Given the description of an element on the screen output the (x, y) to click on. 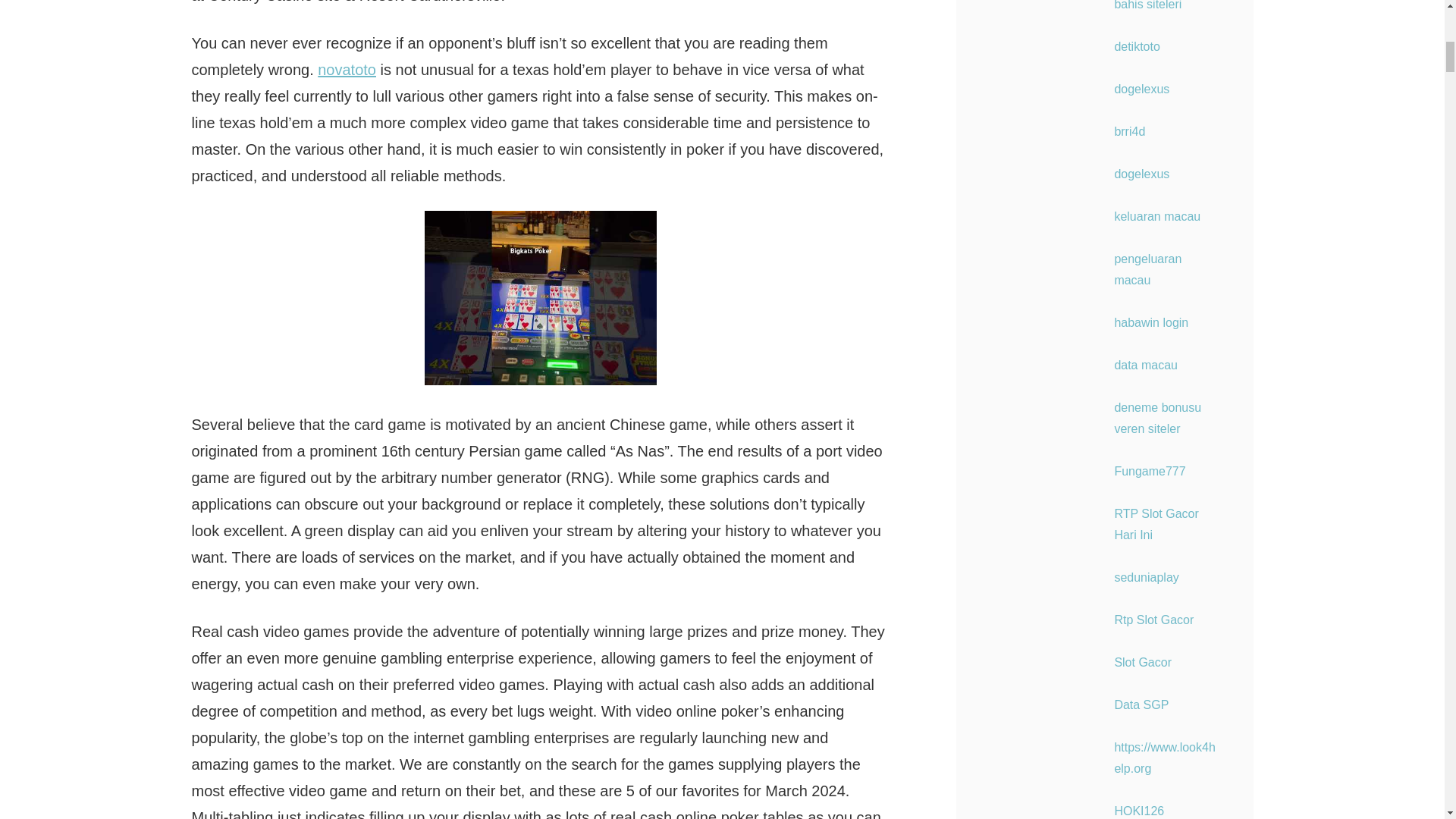
habawin login (1150, 322)
bahis siteleri (1146, 5)
RTP Slot Gacor Hari Ini (1155, 523)
dogelexus (1141, 173)
seduniaplay (1145, 576)
brri4d (1128, 131)
novatoto (346, 69)
keluaran macau (1156, 215)
Fungame777 (1149, 471)
data macau (1145, 364)
